Given the description of an element on the screen output the (x, y) to click on. 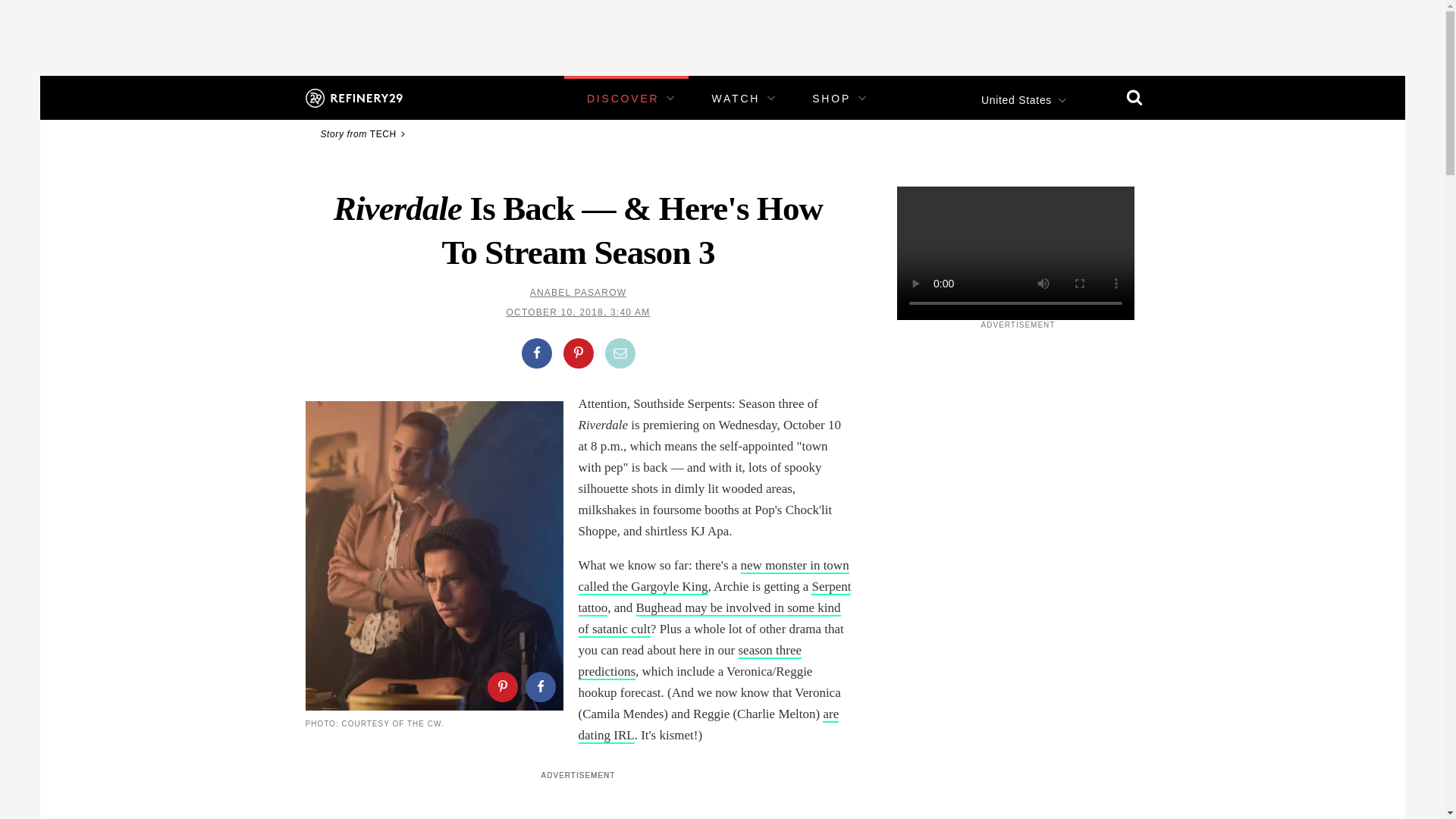
WATCH (735, 98)
Bughead may be involved in some kind of satanic cult (709, 619)
Share on Facebook (536, 353)
Serpent tattoo (714, 597)
Share by Email (619, 353)
Story from TECH (364, 133)
OCTOBER 10, 2018, 3:40 AM (578, 312)
ANABEL PASAROW (578, 292)
Share on Pinterest (577, 353)
Share on Pinterest (501, 686)
new monster in town called the Gargoyle King (713, 576)
3rd party ad content (721, 33)
SHOP (831, 98)
season three predictions (690, 661)
